Given the description of an element on the screen output the (x, y) to click on. 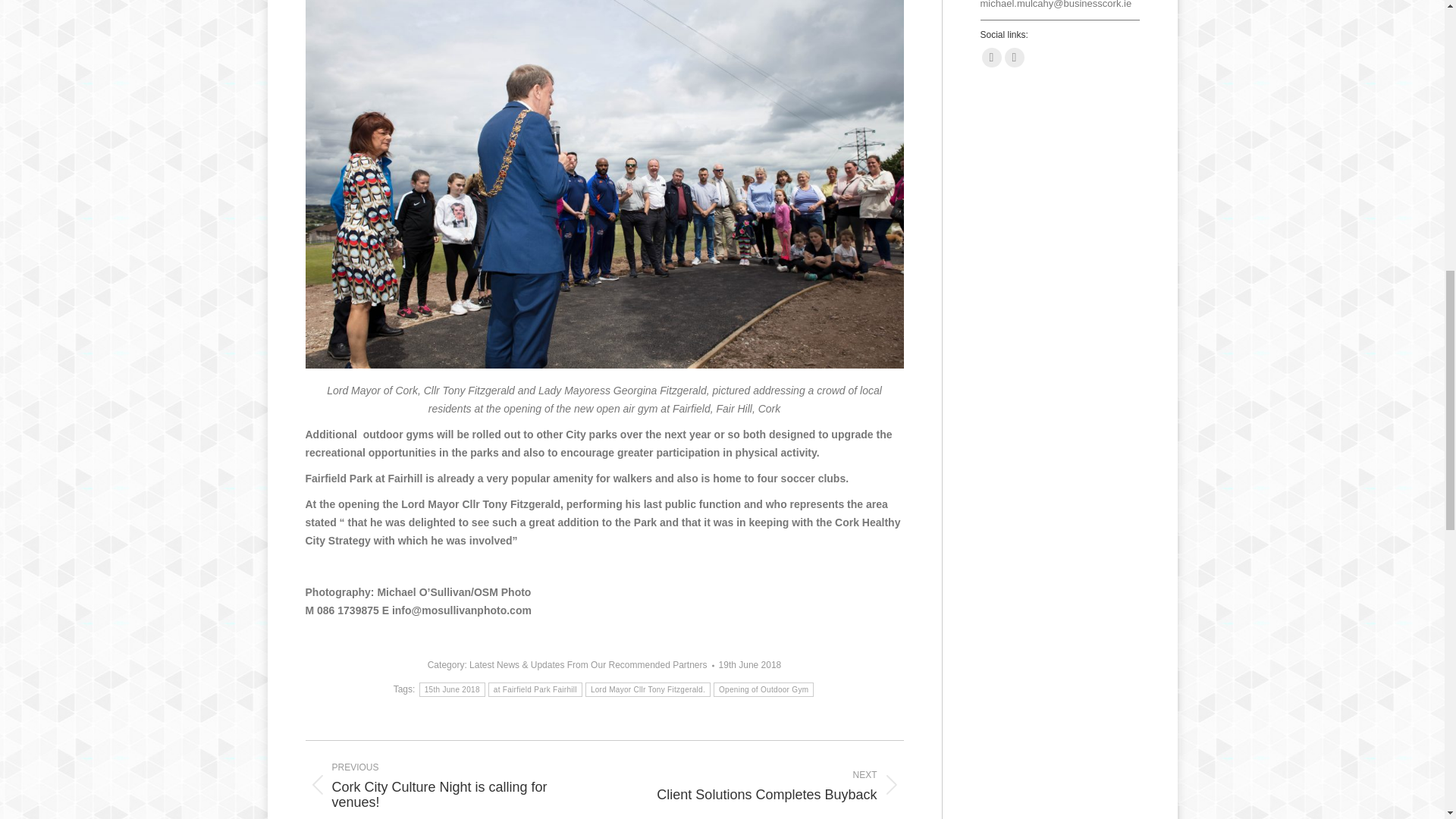
Facebook page opens in new window (991, 57)
X page opens in new window (1013, 57)
at Fairfield Park Fairhill (534, 689)
Opening of Outdoor Gym (763, 689)
9:37 am (750, 665)
19th June 2018 (750, 665)
15th June 2018 (765, 784)
Lord Mayor Cllr Tony Fitzgerald. (451, 689)
